Given the description of an element on the screen output the (x, y) to click on. 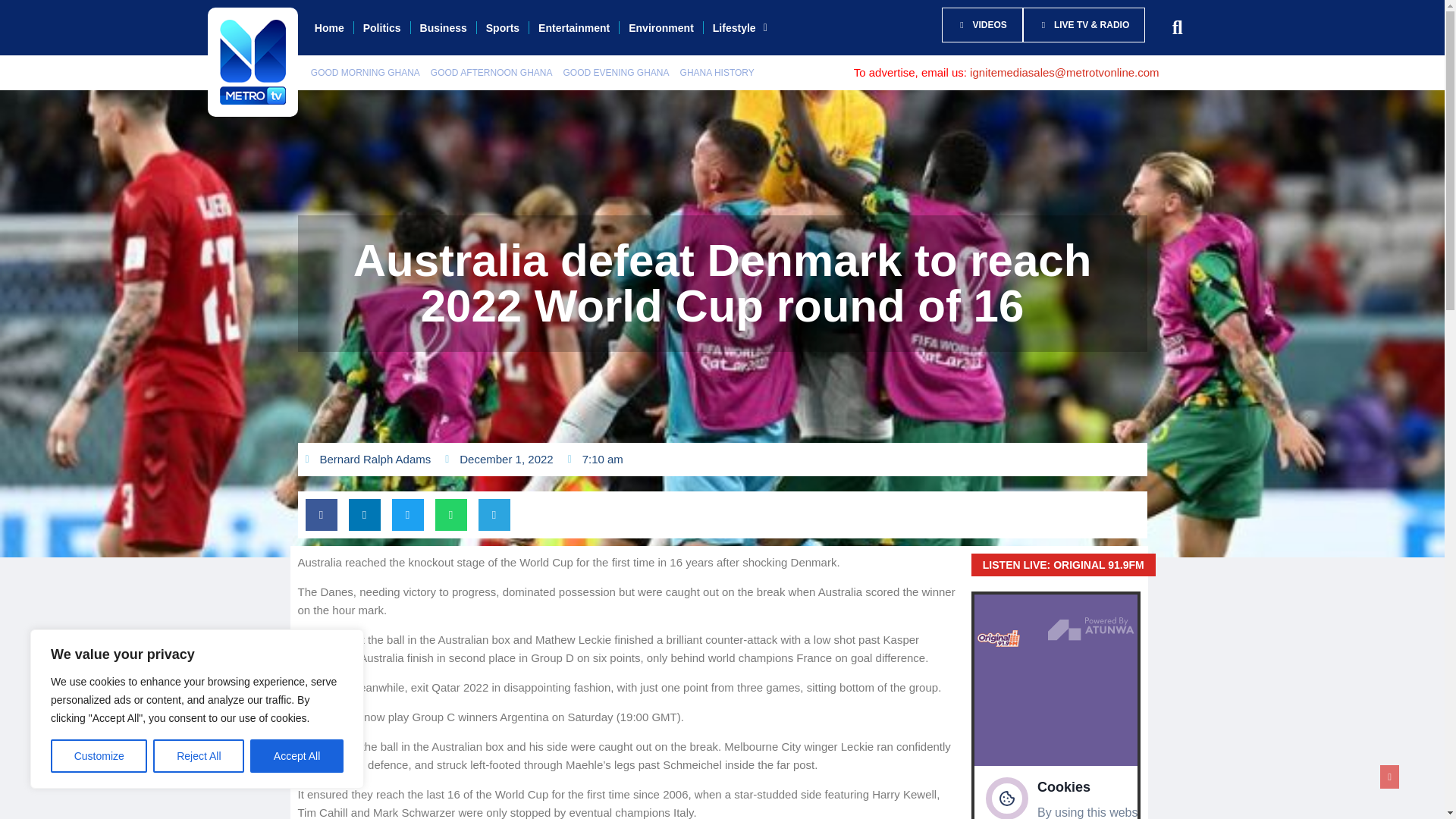
Environment (661, 27)
Politics (381, 27)
Sports (502, 27)
Business (443, 27)
Entertainment (573, 27)
Reject All (198, 756)
Home (329, 27)
Customize (98, 756)
Lifestyle (739, 27)
VIDEOS (982, 24)
Accept All (296, 756)
